Given the description of an element on the screen output the (x, y) to click on. 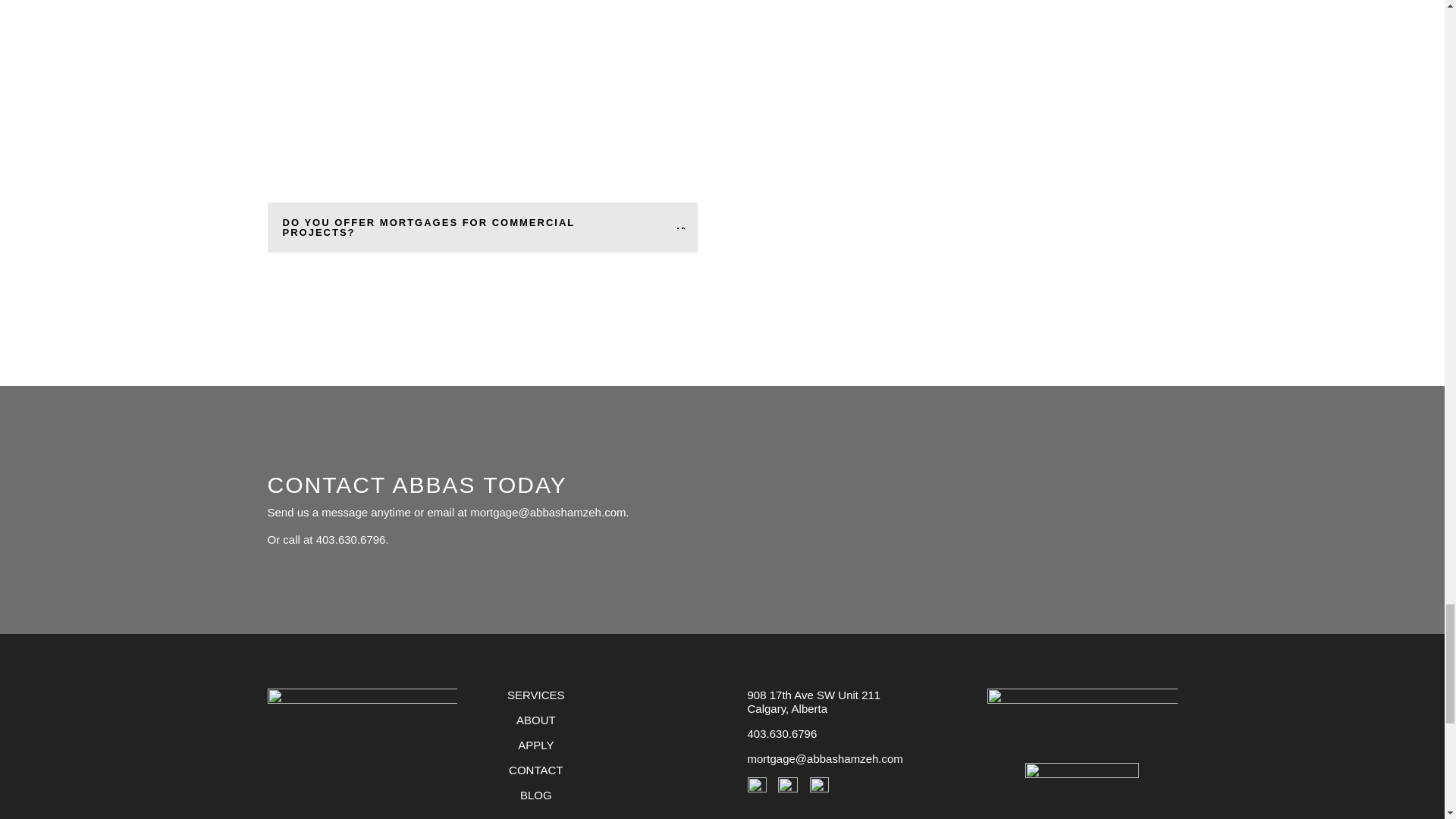
ABOUT (536, 719)
APPLY (535, 744)
BLOG (535, 794)
SERVICES (535, 694)
CONTACT (535, 769)
